Given the description of an element on the screen output the (x, y) to click on. 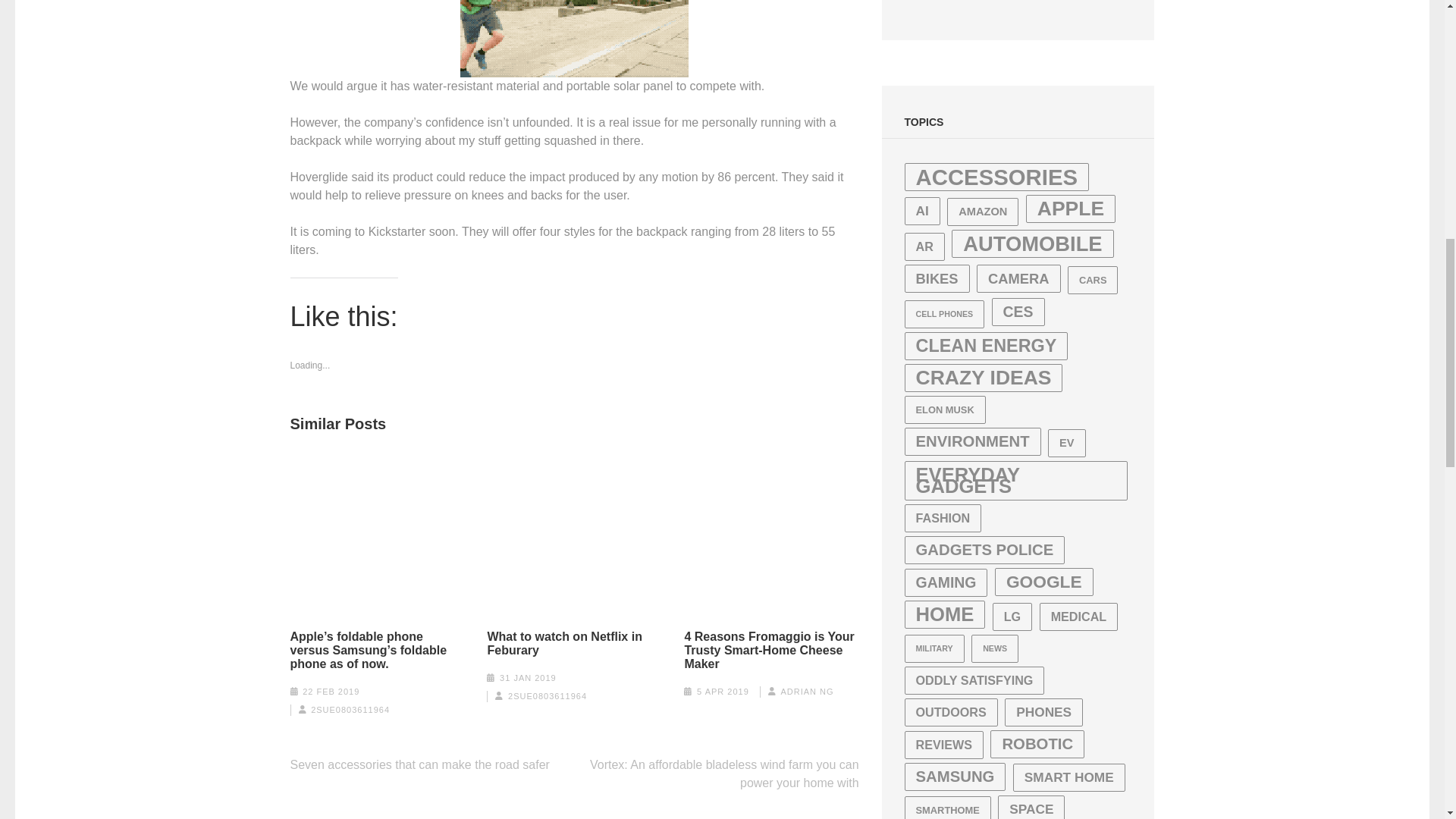
2SUE0803611964 (350, 709)
What to watch on Netflix in Feburary (573, 643)
31 JAN 2019 (527, 677)
2SUE0803611964 (547, 696)
22 FEB 2019 (330, 691)
